Given the description of an element on the screen output the (x, y) to click on. 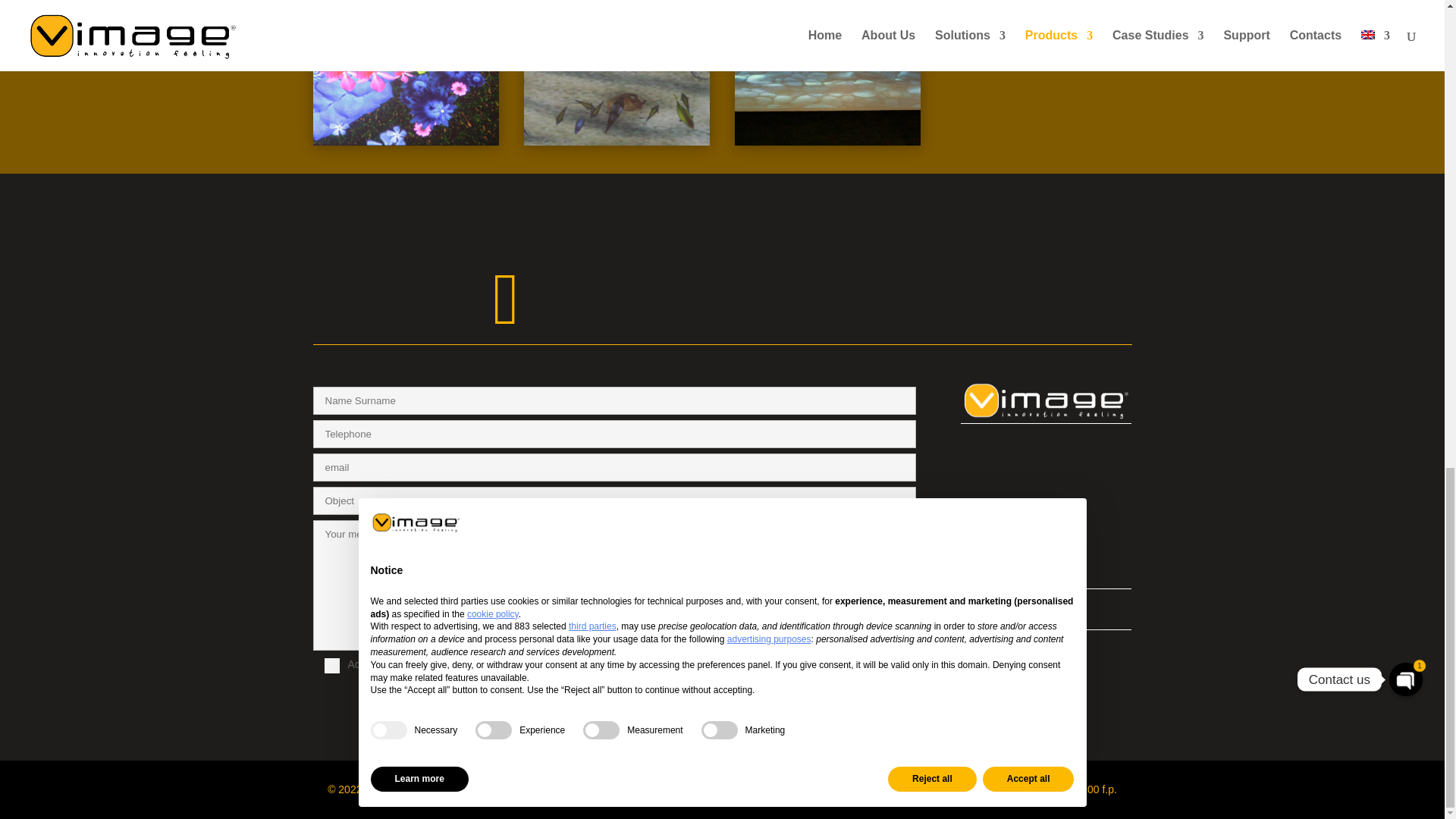
Pavimento Interattivo-NCP-4 (406, 141)
Logo-Vimage-Neg (1045, 400)
Cookie Policy  (992, 671)
Pavimento Interattivo-NCF-3 (828, 141)
Send (887, 686)
Pavimento Interattivo-NCF-1 (617, 141)
Privacy Policy  (993, 645)
